Given the description of an element on the screen output the (x, y) to click on. 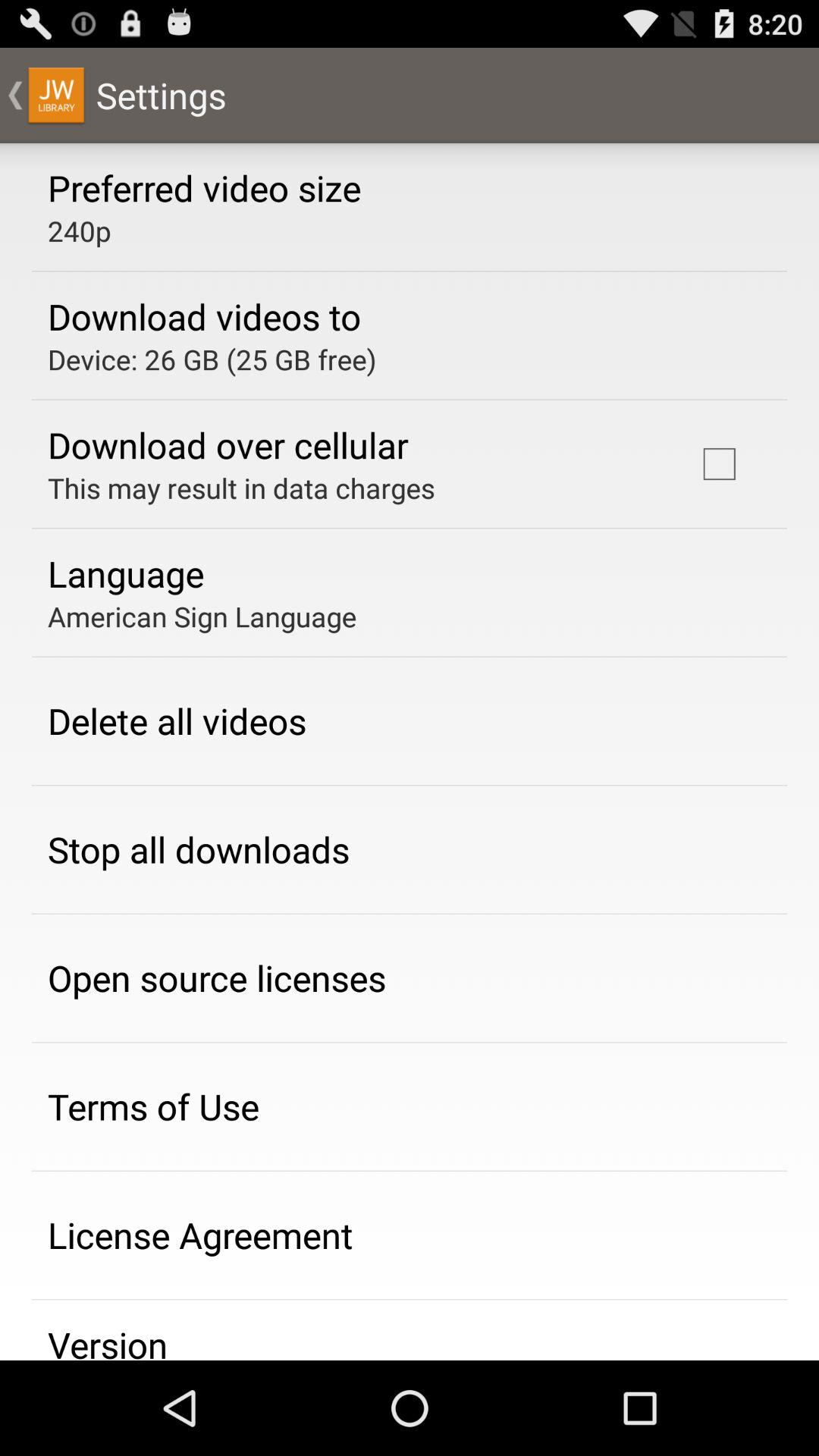
select the app below preferred video size icon (78, 230)
